Given the description of an element on the screen output the (x, y) to click on. 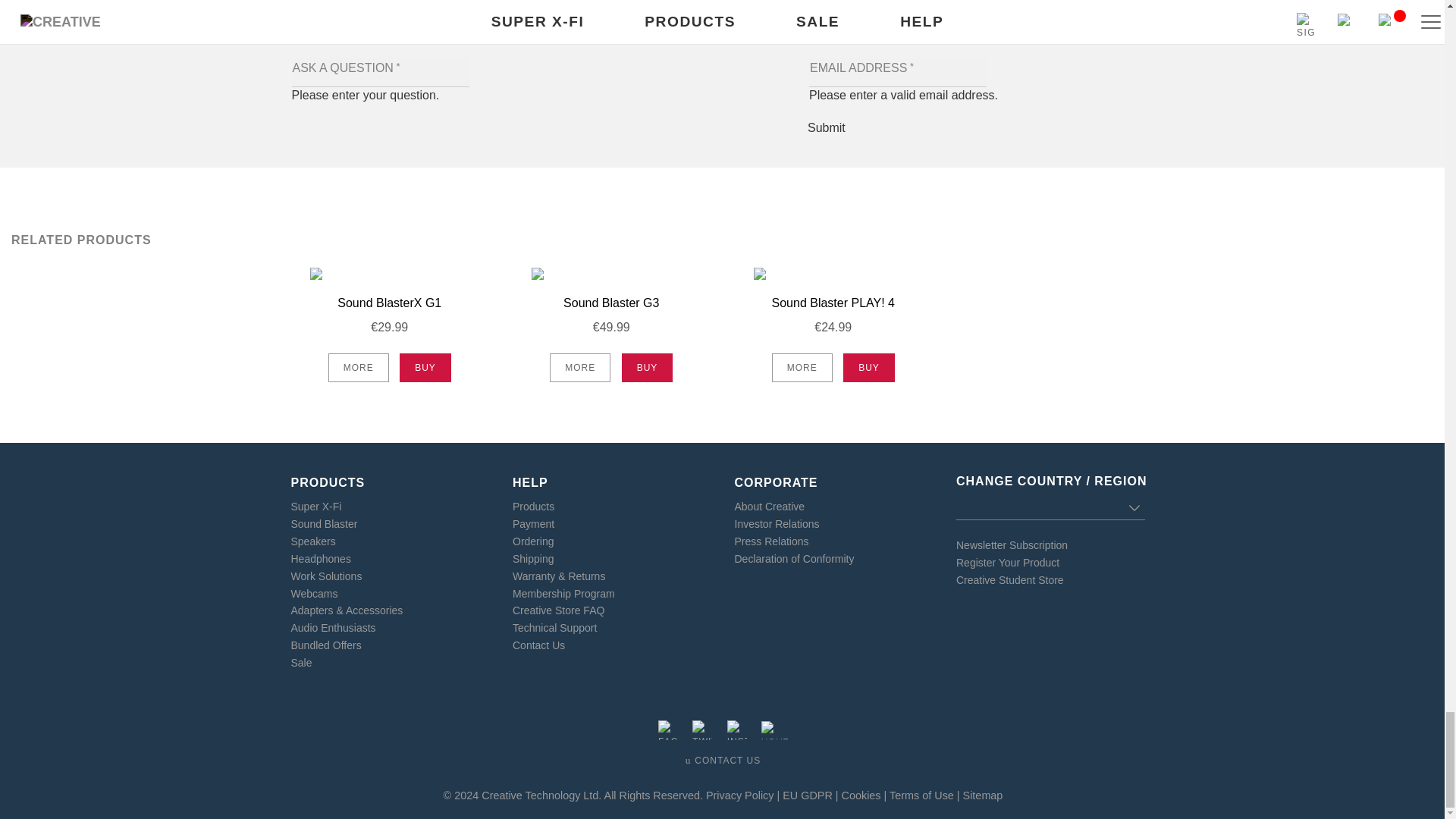
Sound BlasterX G1 (389, 303)
MORE (358, 367)
Sound Blaster G3 (611, 303)
BUY (424, 367)
